Given the description of an element on the screen output the (x, y) to click on. 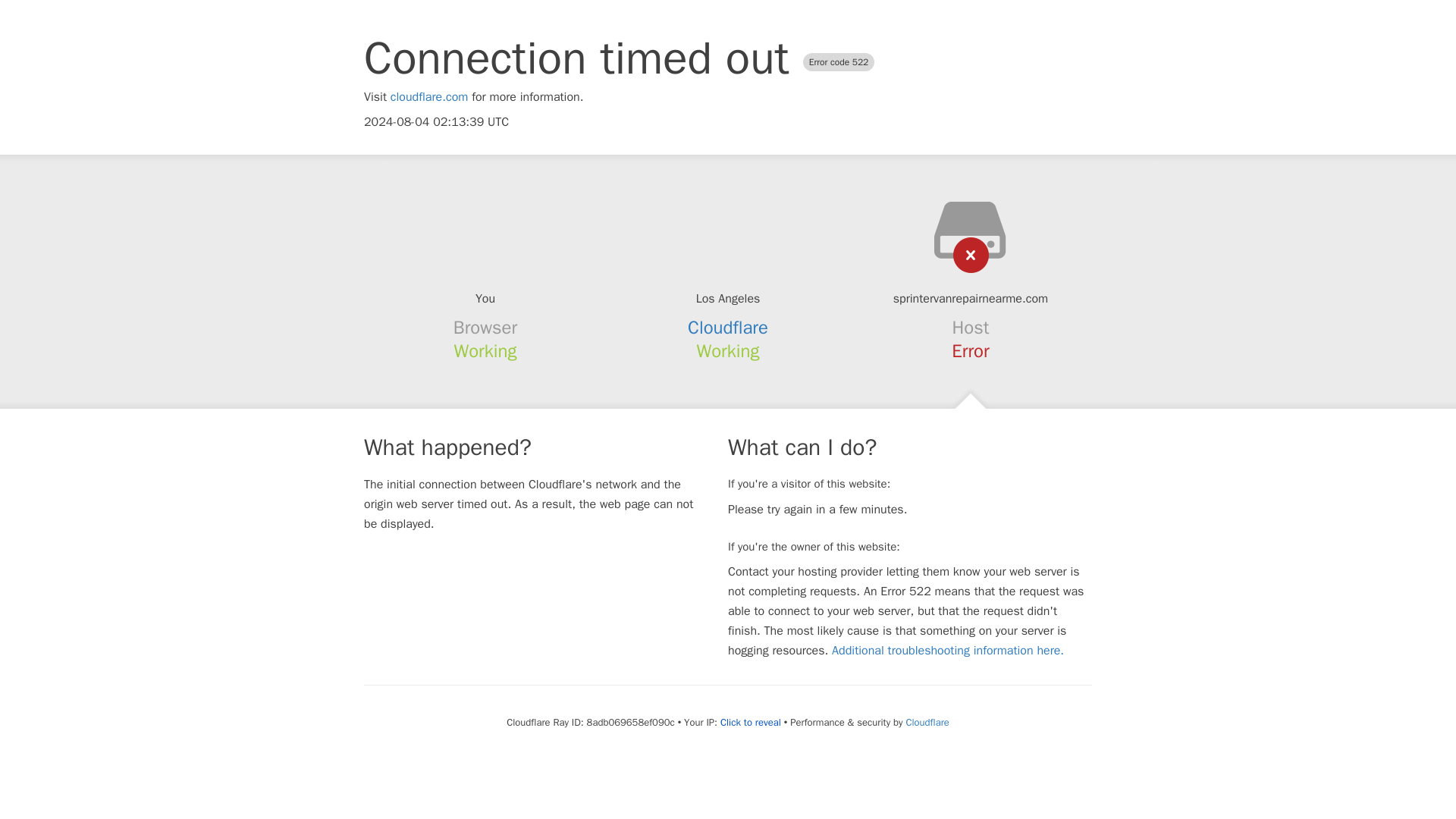
Click to reveal (750, 722)
Additional troubleshooting information here. (947, 650)
cloudflare.com (429, 96)
Cloudflare (727, 327)
Cloudflare (927, 721)
